Given the description of an element on the screen output the (x, y) to click on. 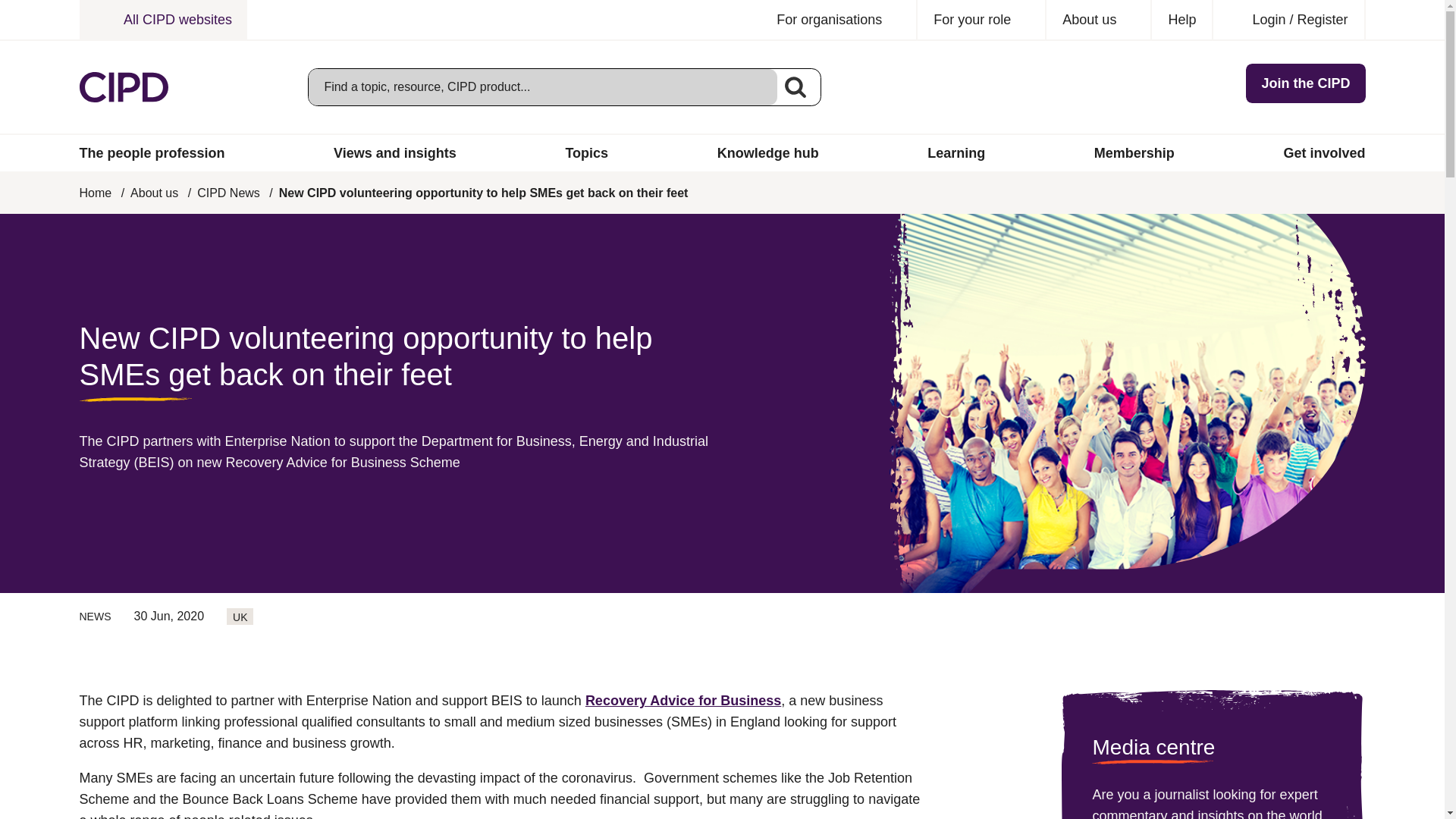
For your role (981, 19)
Search (795, 86)
About us (1098, 19)
For organisations (838, 19)
CIPD (123, 87)
Help (1181, 19)
Search (795, 86)
All CIPD websites (162, 19)
